Given the description of an element on the screen output the (x, y) to click on. 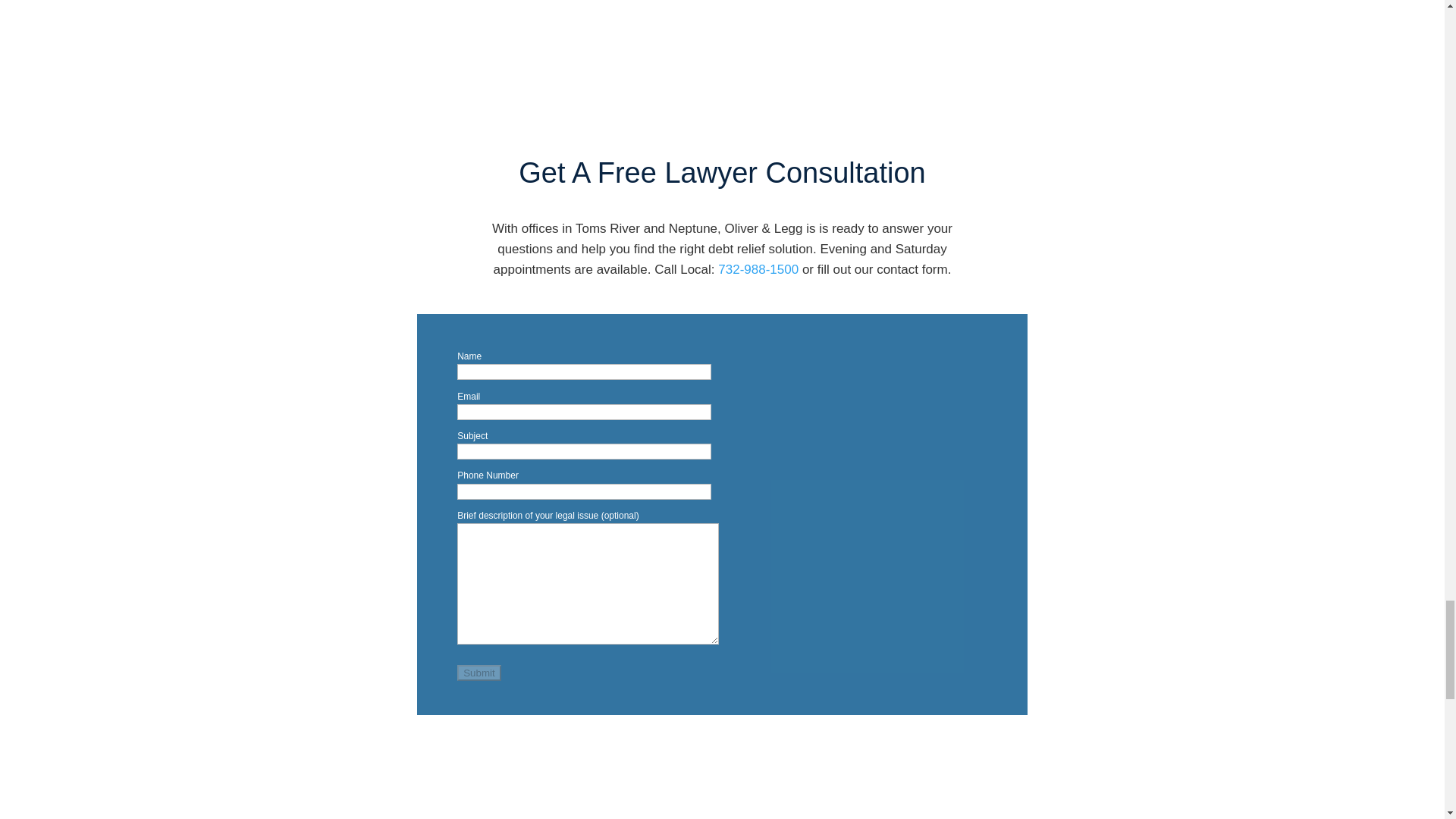
Submit (478, 672)
